Given the description of an element on the screen output the (x, y) to click on. 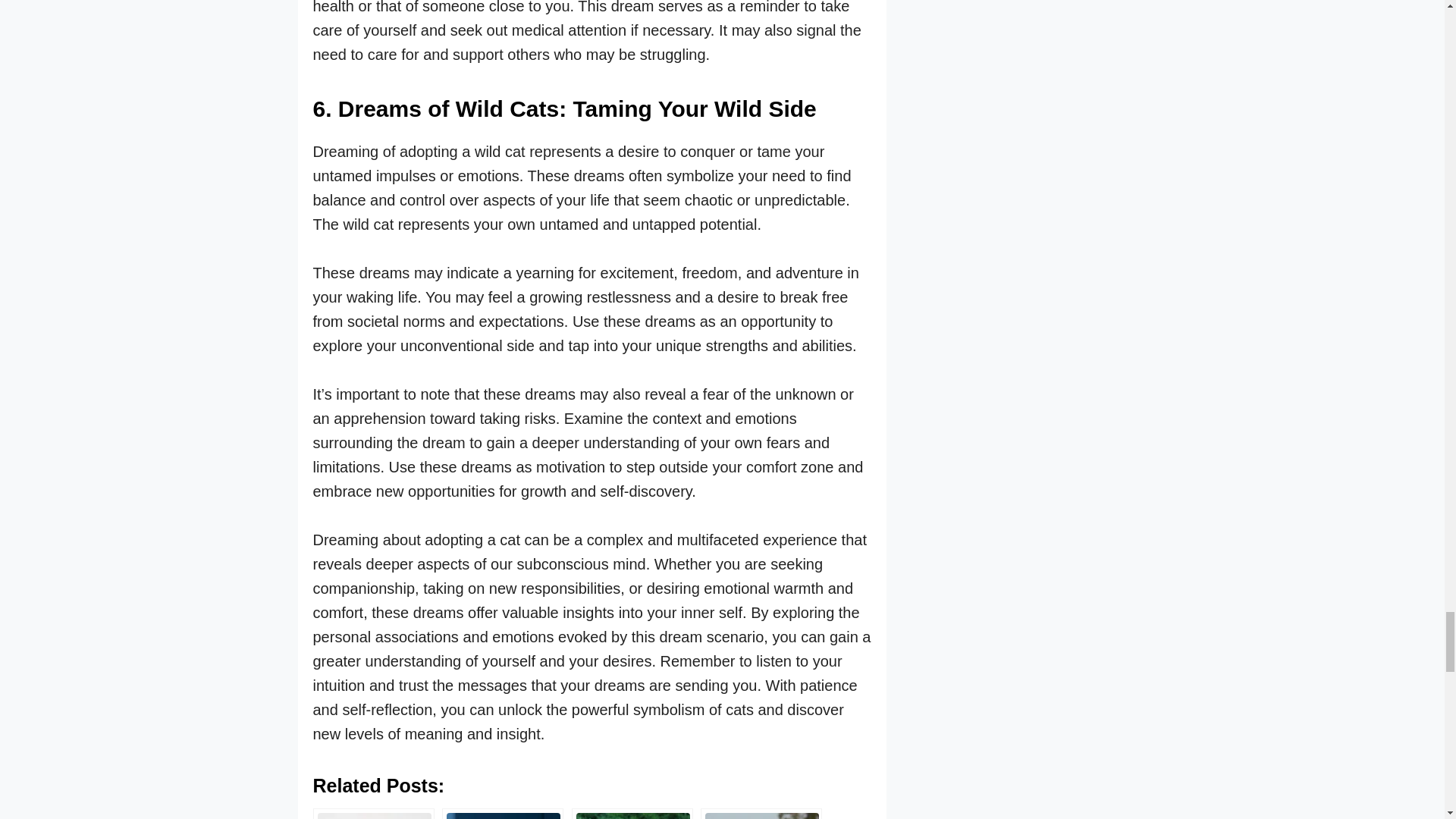
Meaning of Shire Horse Dreams: Strength, Joy and Control (761, 813)
Interpreting Welsh Corgi Dreams: Loyalty, Confidence and Joy (373, 813)
